Given the description of an element on the screen output the (x, y) to click on. 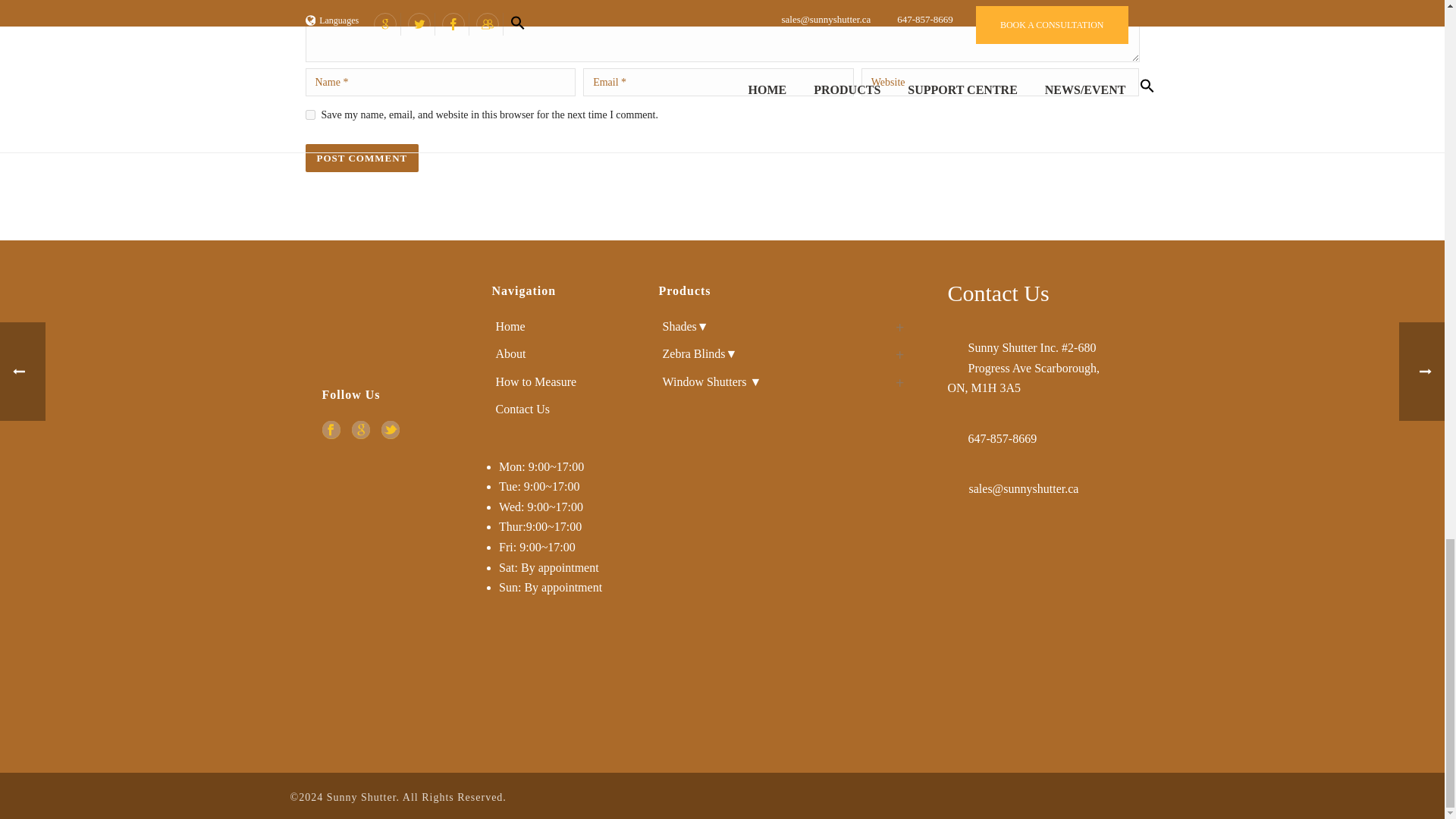
Follow Us on google (360, 429)
Follow Us on facebook (330, 429)
Follow Us on twitter (389, 429)
yes (309, 114)
POST COMMENT (361, 157)
